Given the description of an element on the screen output the (x, y) to click on. 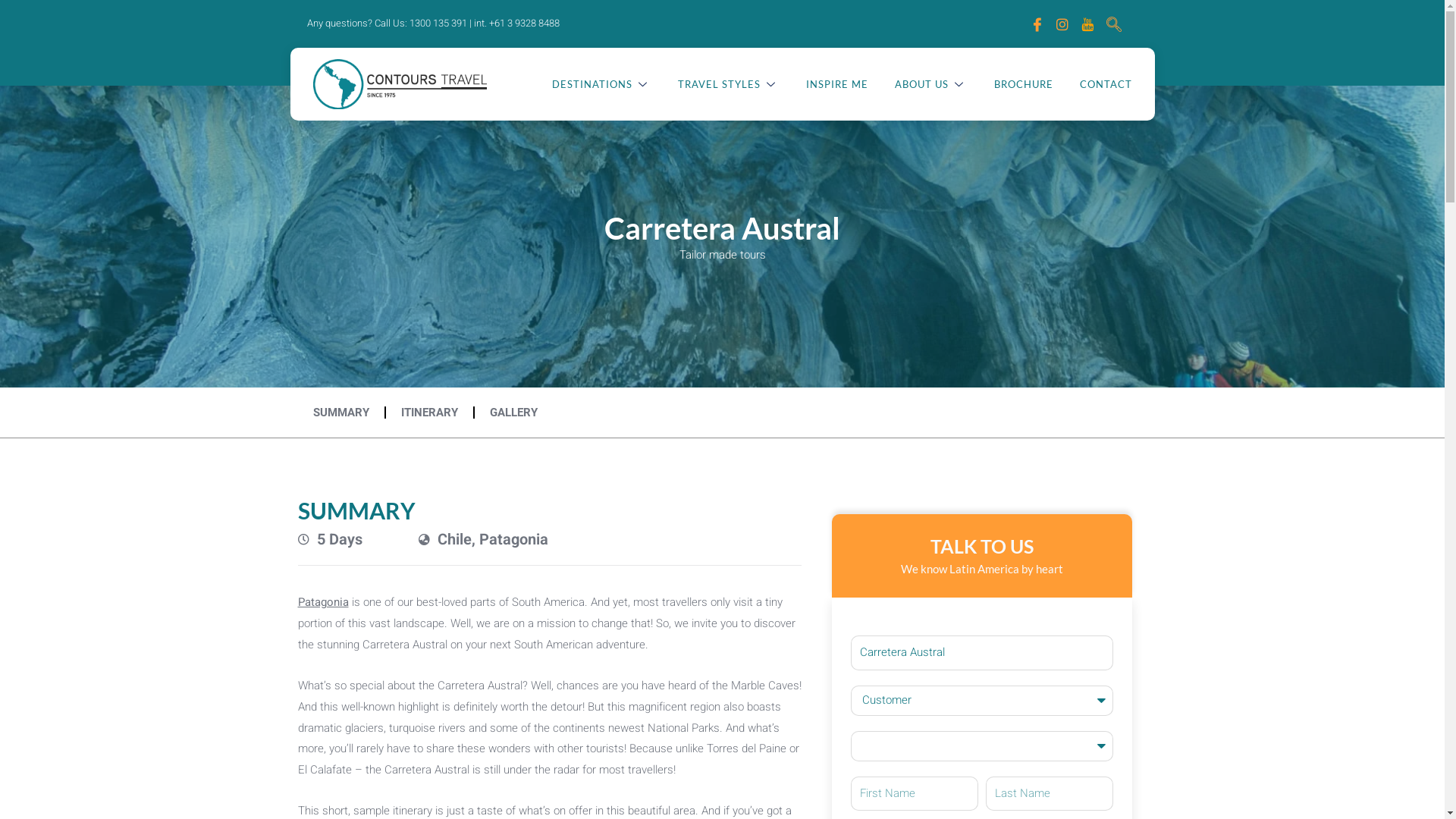
CONTACT Element type: text (1091, 83)
BROCHURE Element type: text (1010, 83)
ITINERARY Element type: text (428, 412)
DESTINATIONS Element type: text (587, 83)
ABOUT US Element type: text (916, 83)
INSPIRE ME Element type: text (823, 83)
GALLERY Element type: text (513, 412)
TRAVEL STYLES Element type: text (714, 83)
Patagonia Element type: text (322, 601)
SUMMARY Element type: text (340, 412)
